Given the description of an element on the screen output the (x, y) to click on. 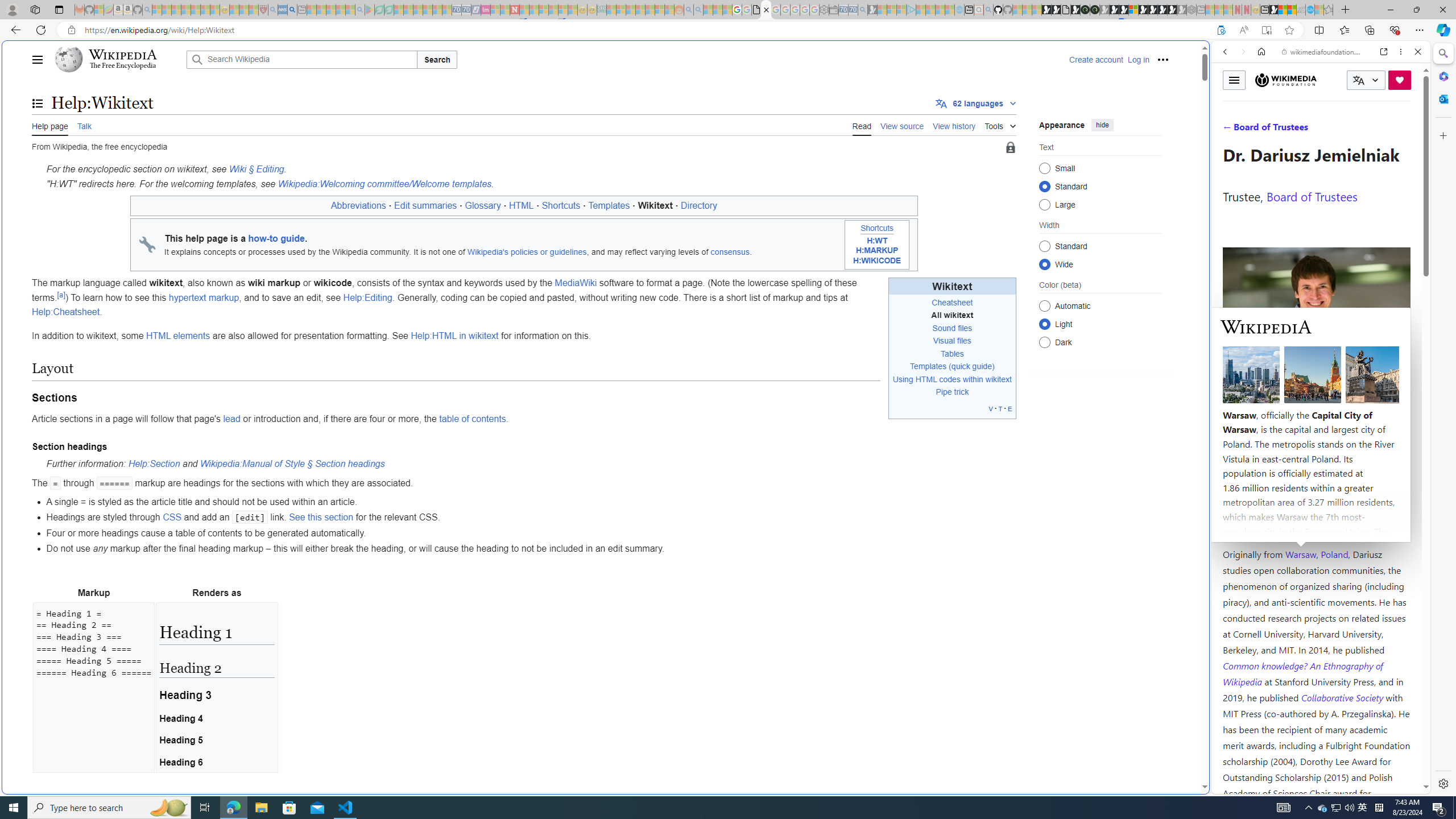
Kozminski University (1316, 486)
Cheatsheet (951, 302)
Log in (1137, 58)
Light (1044, 323)
Help:Cheatsheet (66, 312)
utah sues federal government - Search (922, 389)
This site scope (1259, 102)
Heading 1 Heading 2 Heading 3 Heading 4 Heading 5 Heading 6 (216, 687)
App bar (728, 29)
github - Search - Sleeping (988, 9)
google - Search - Sleeping (359, 9)
